Given the description of an element on the screen output the (x, y) to click on. 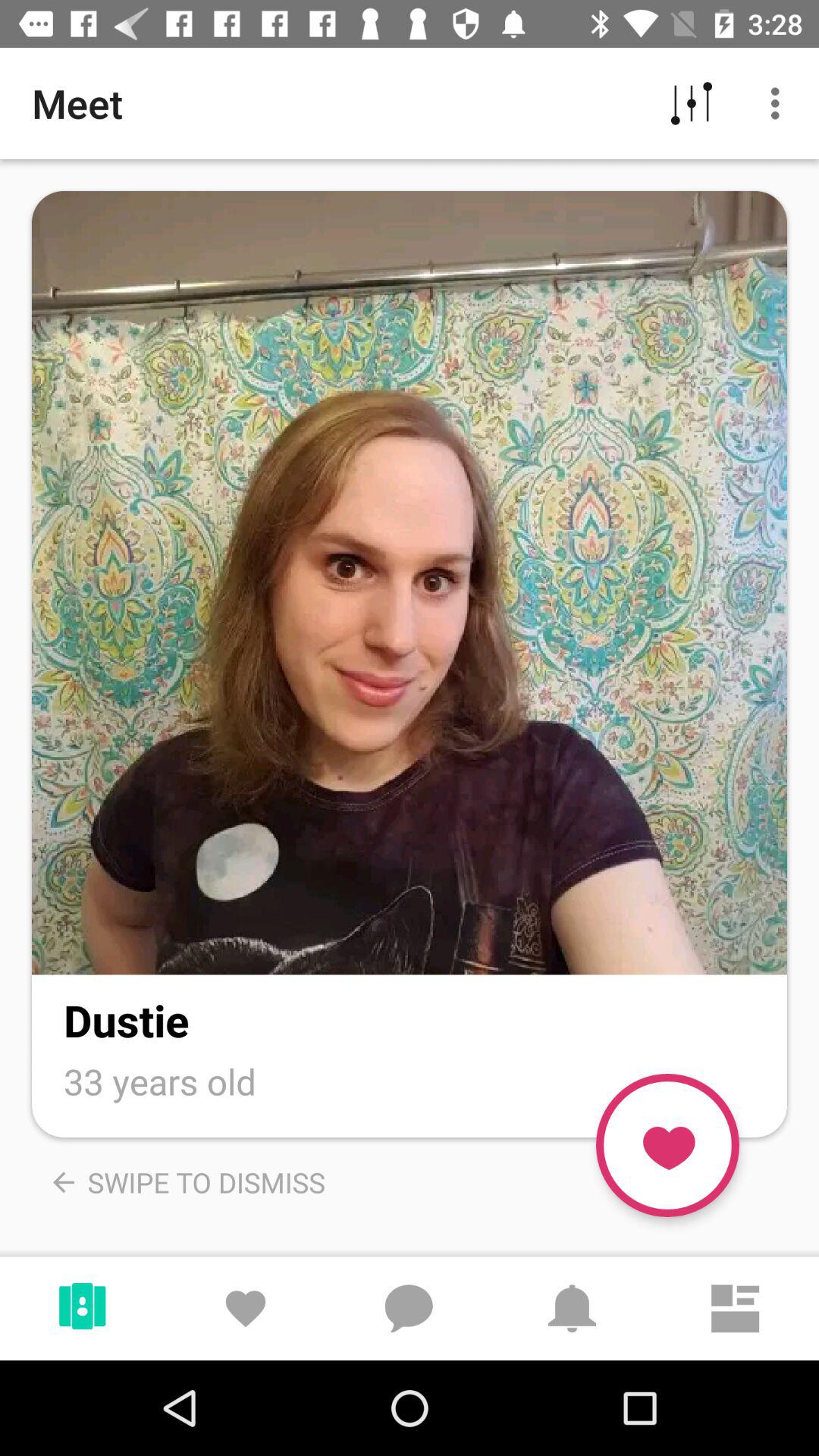
tap item above 33 years old item (126, 1019)
